Given the description of an element on the screen output the (x, y) to click on. 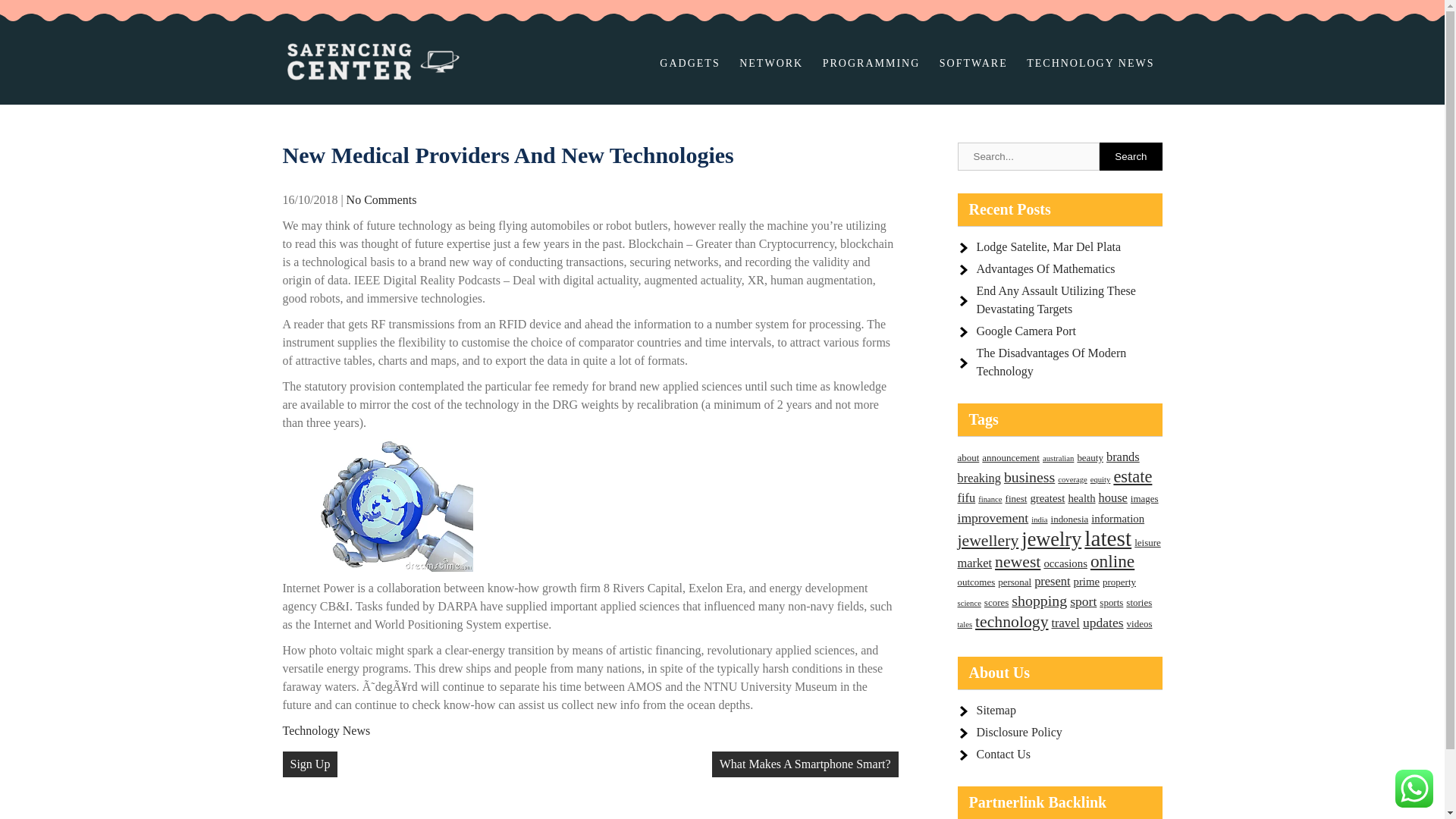
No Comments (381, 199)
health (1080, 498)
Google Camera Port (1026, 330)
india (1038, 519)
information (1117, 518)
greatest (1046, 498)
SOFTWARE (972, 63)
estate (1132, 476)
Search (1130, 156)
brands (1123, 456)
images (1144, 498)
Technology News (325, 730)
Search (1130, 156)
coverage (1072, 479)
Sign Up (309, 764)
